Given the description of an element on the screen output the (x, y) to click on. 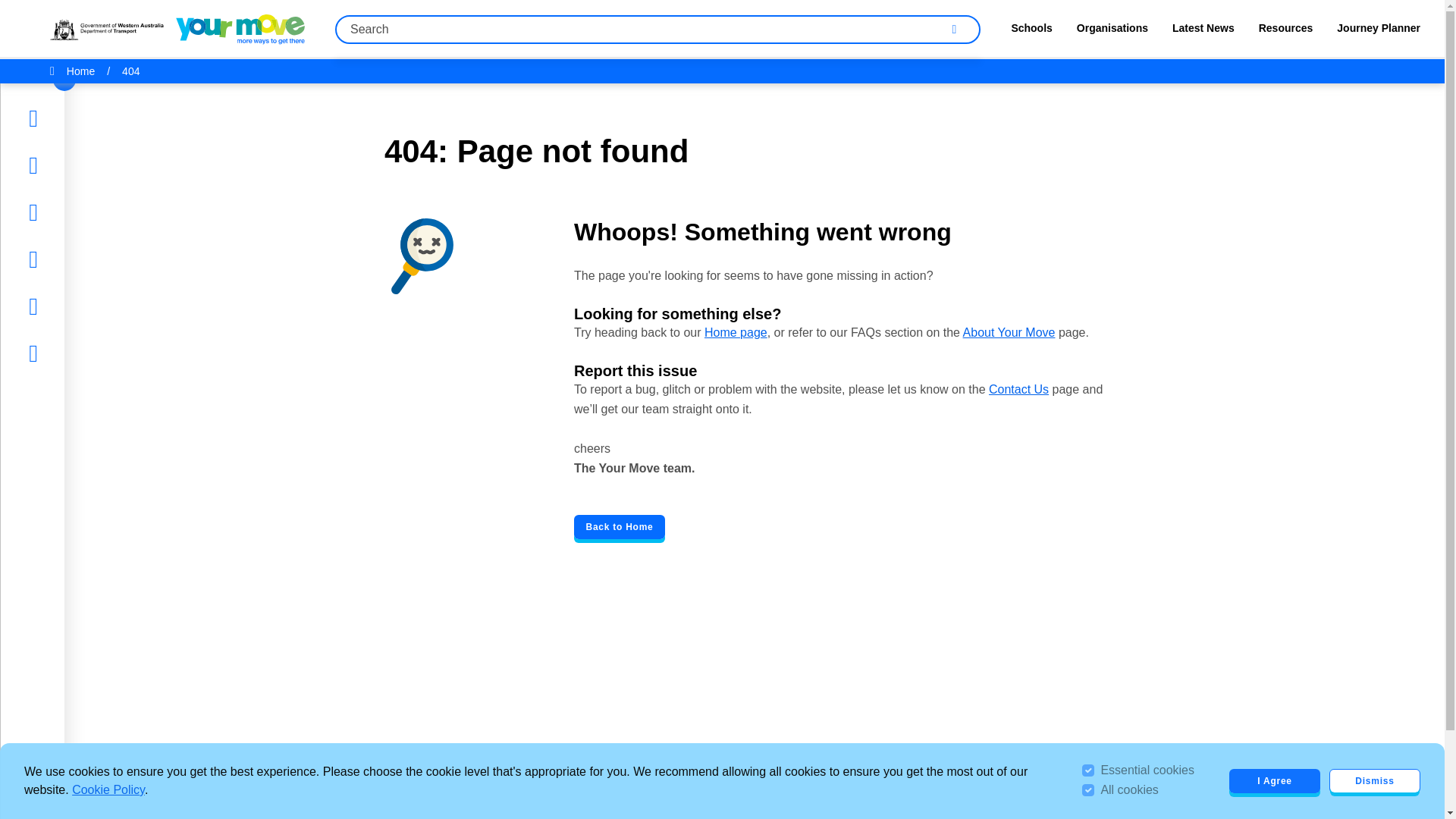
Resources (1286, 31)
Contact Us (1018, 389)
Back to Home (619, 526)
Stories (61, 165)
Cookie Policy (107, 789)
Home (59, 118)
Register (65, 353)
Schools (1030, 31)
Resources (71, 259)
Search (955, 29)
